Given the description of an element on the screen output the (x, y) to click on. 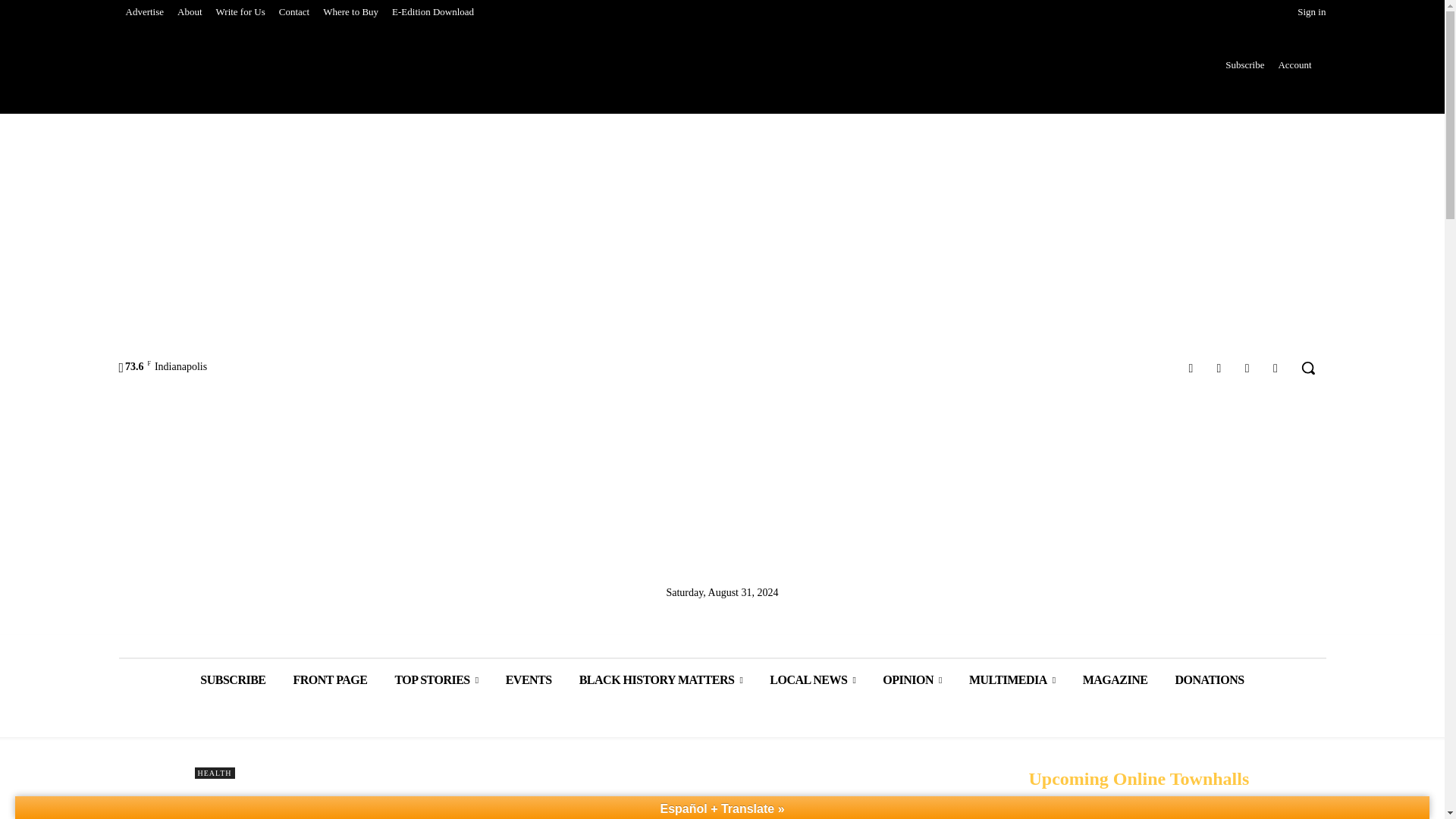
Advertise (143, 12)
Youtube (1275, 367)
Instagram (1218, 367)
Twitter (1246, 367)
Facebook (1190, 367)
